Given the description of an element on the screen output the (x, y) to click on. 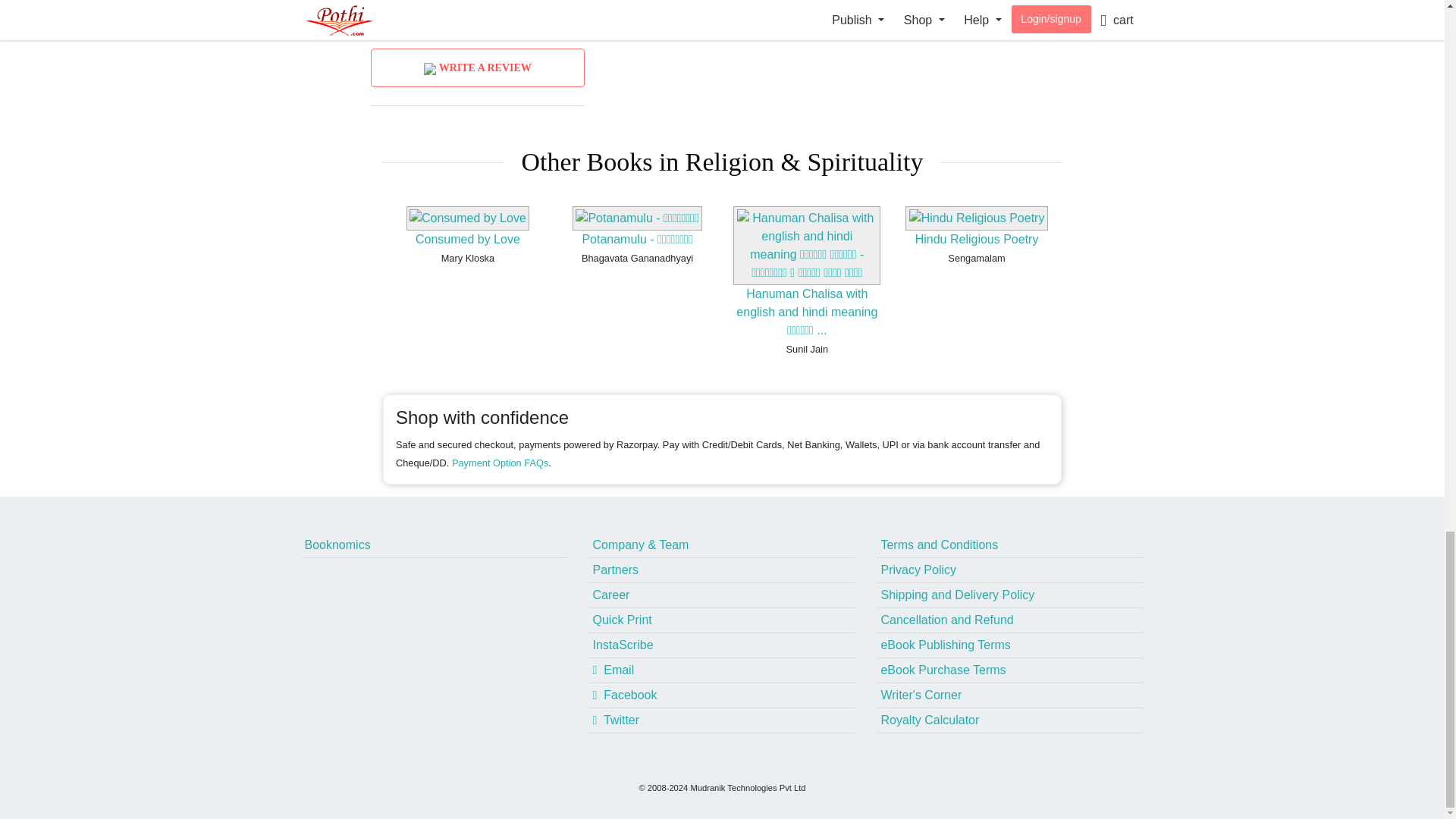
WRITE A REVIEW (478, 67)
Consumed by Love (466, 238)
Hindu Religious Poetry (977, 238)
Consumed by Love (466, 238)
